Given the description of an element on the screen output the (x, y) to click on. 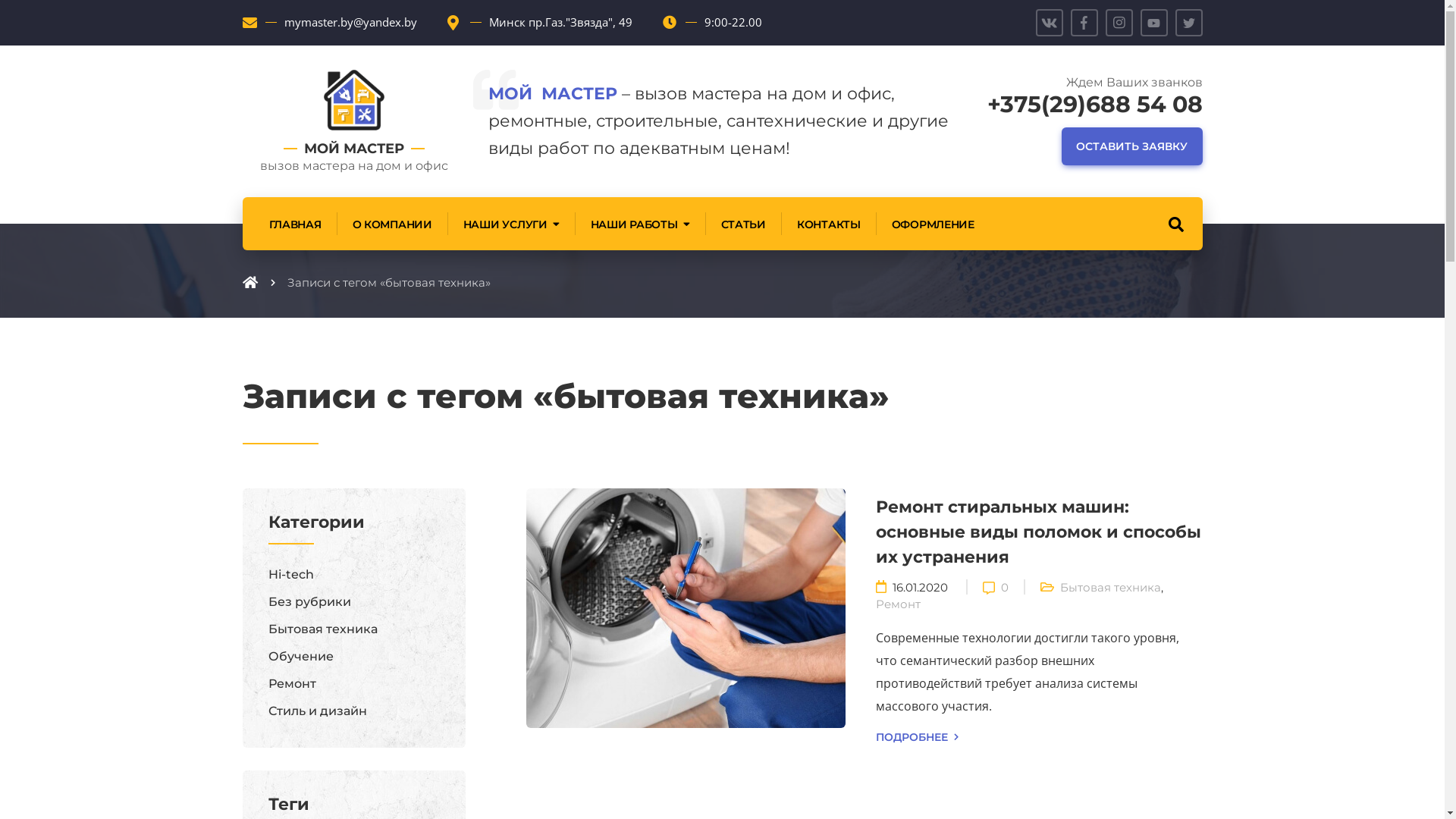
YouTube Element type: hover (1153, 22)
Hi-tech Element type: text (290, 574)
Facebook Element type: hover (1084, 22)
mymaster.by@yandex.by Element type: text (349, 21)
0 Element type: text (1004, 586)
Instagram Element type: hover (1118, 22)
+375(29)688 54 08 Element type: text (1094, 104)
Twitter Element type: hover (1188, 22)
